Given the description of an element on the screen output the (x, y) to click on. 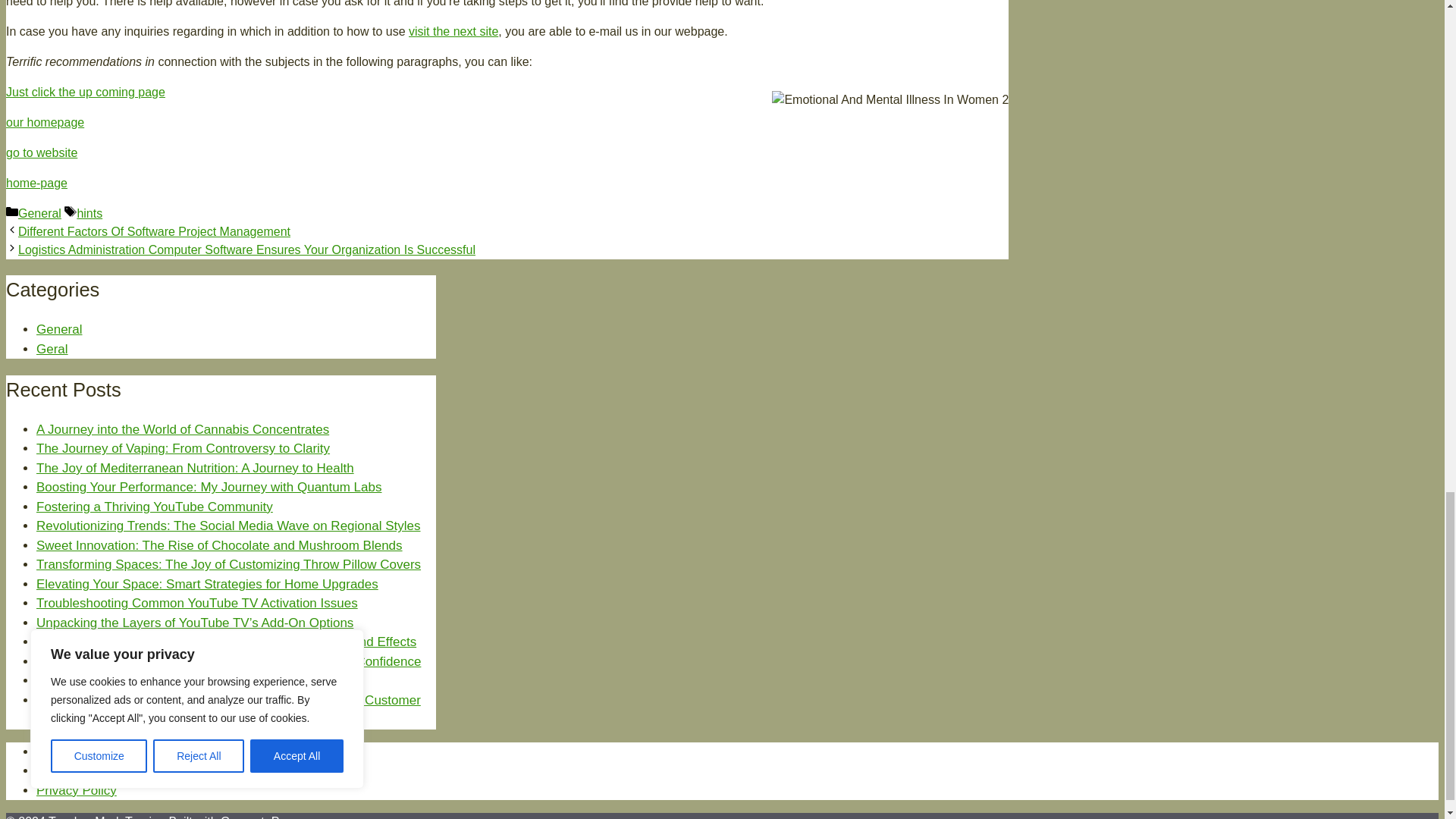
Geral (52, 349)
hints (89, 213)
A Journey into the World of Cannabis Concentrates (182, 429)
go to website (41, 152)
General (39, 213)
General (58, 329)
Different Factors Of Software Project Management (153, 231)
The Joy of Mediterranean Nutrition: A Journey to Health (194, 468)
Fostering a Thriving YouTube Community (154, 506)
The Journey of Vaping: From Controversy to Clarity (183, 448)
